Given the description of an element on the screen output the (x, y) to click on. 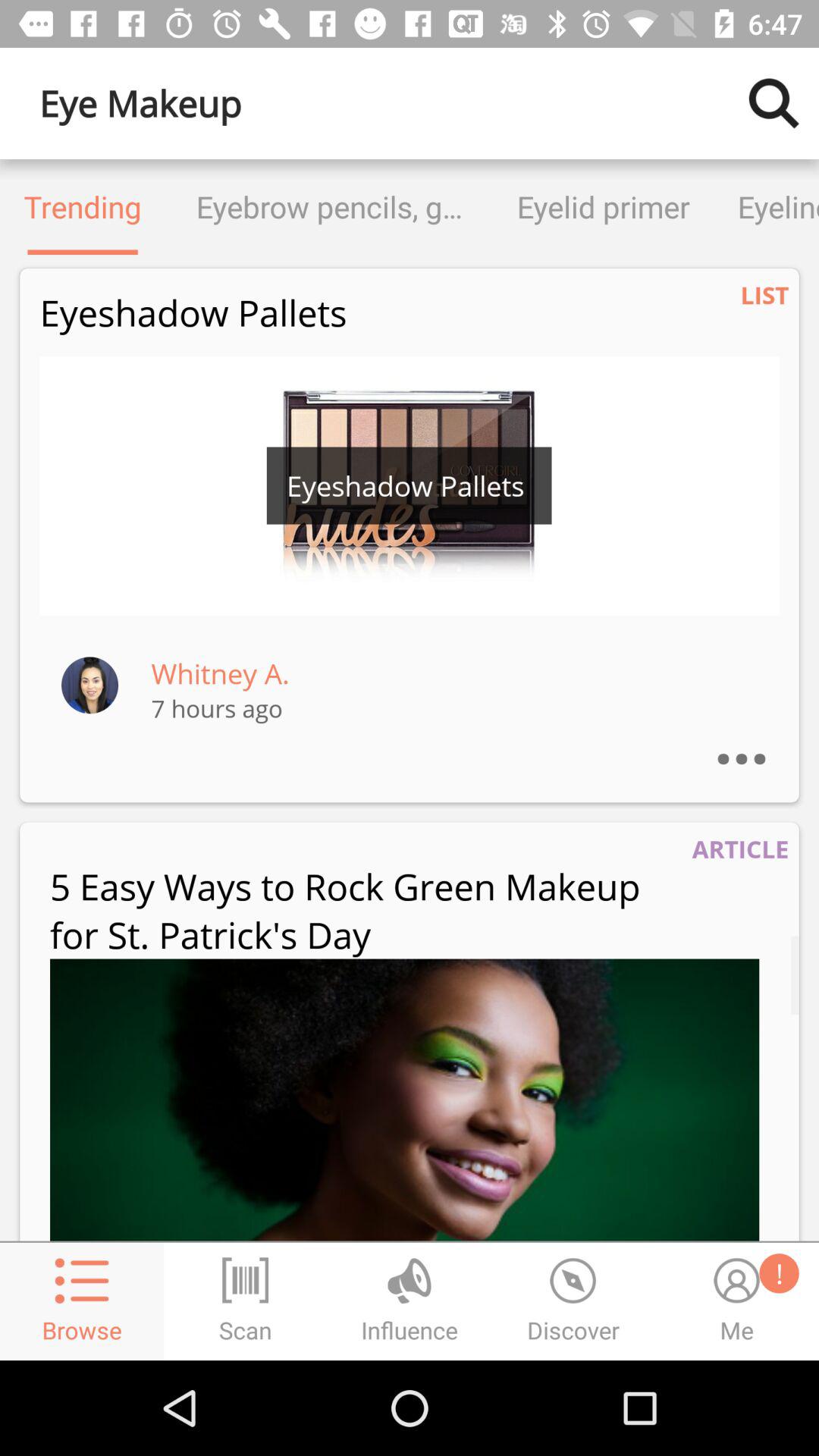
select the item next to the whitney a. item (89, 684)
